Given the description of an element on the screen output the (x, y) to click on. 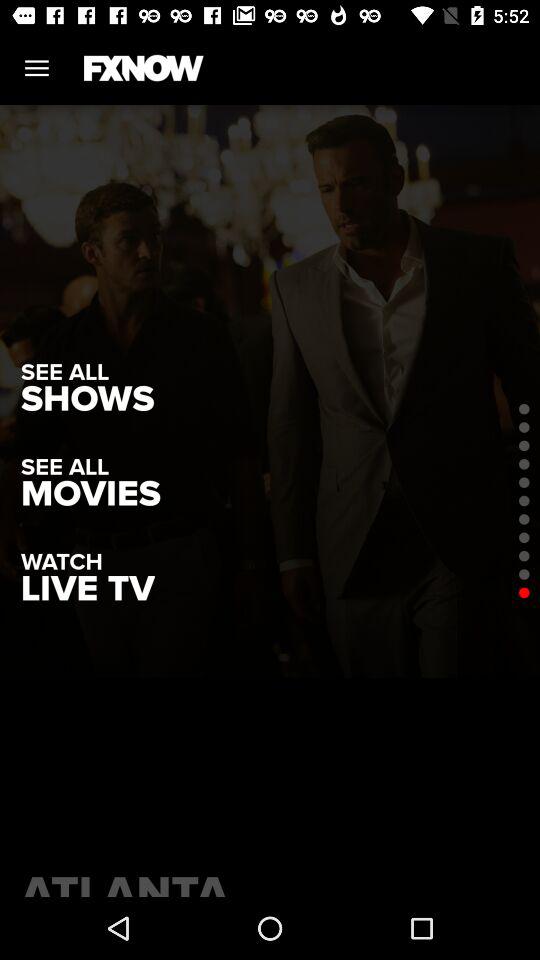
click live tv (87, 588)
